Given the description of an element on the screen output the (x, y) to click on. 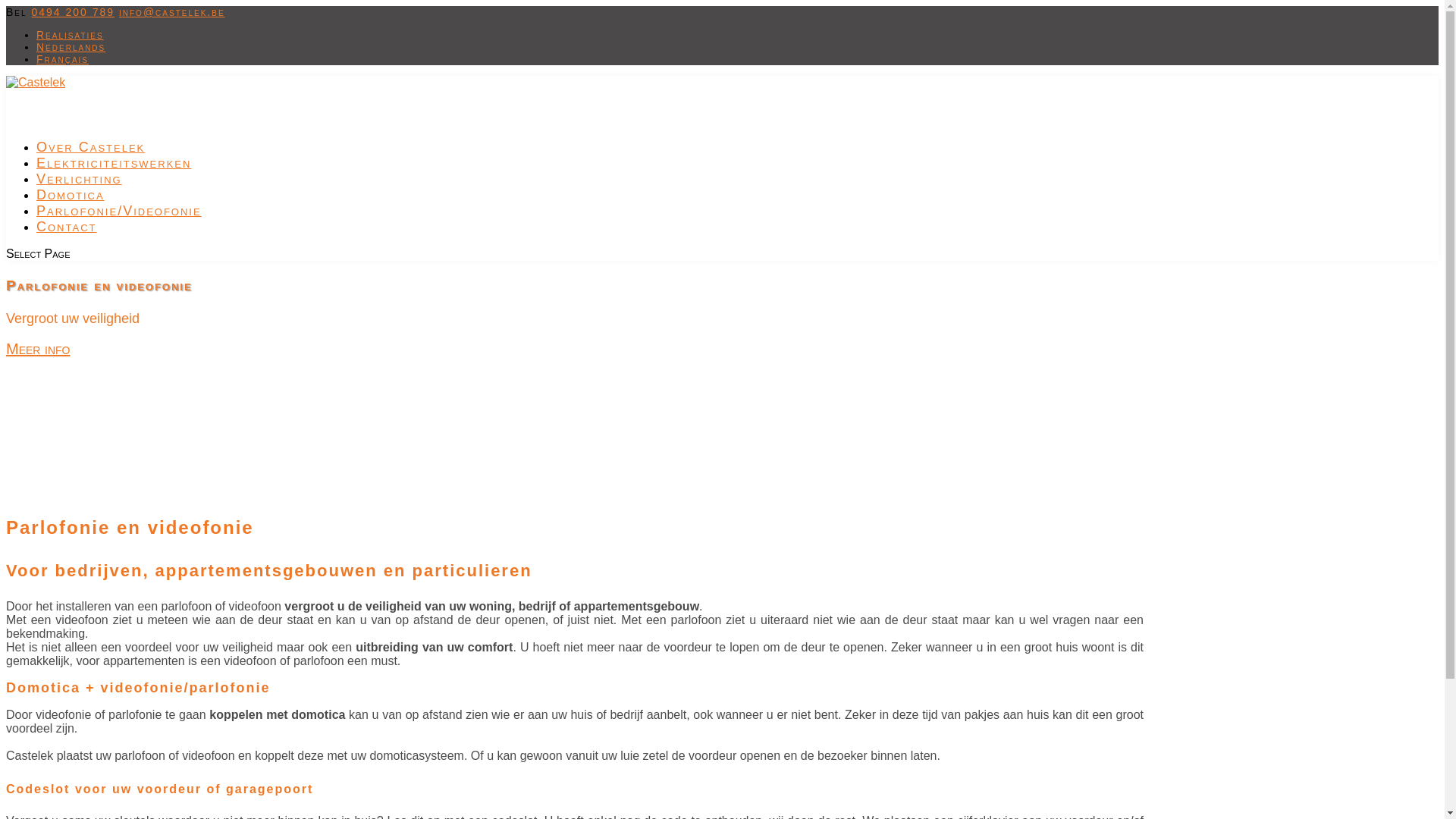
Realisaties Element type: text (69, 34)
Nederlands Element type: text (70, 46)
Meer info Element type: text (37, 348)
0494 200 789 Element type: text (72, 12)
Verlichting Element type: text (79, 197)
Elektriciteitswerken Element type: text (113, 181)
Over Castelek Element type: text (90, 165)
Parlofonie/Videofonie Element type: text (118, 229)
Domotica Element type: text (70, 213)
Contact Element type: text (66, 245)
info@castelek.be Element type: text (172, 12)
